Given the description of an element on the screen output the (x, y) to click on. 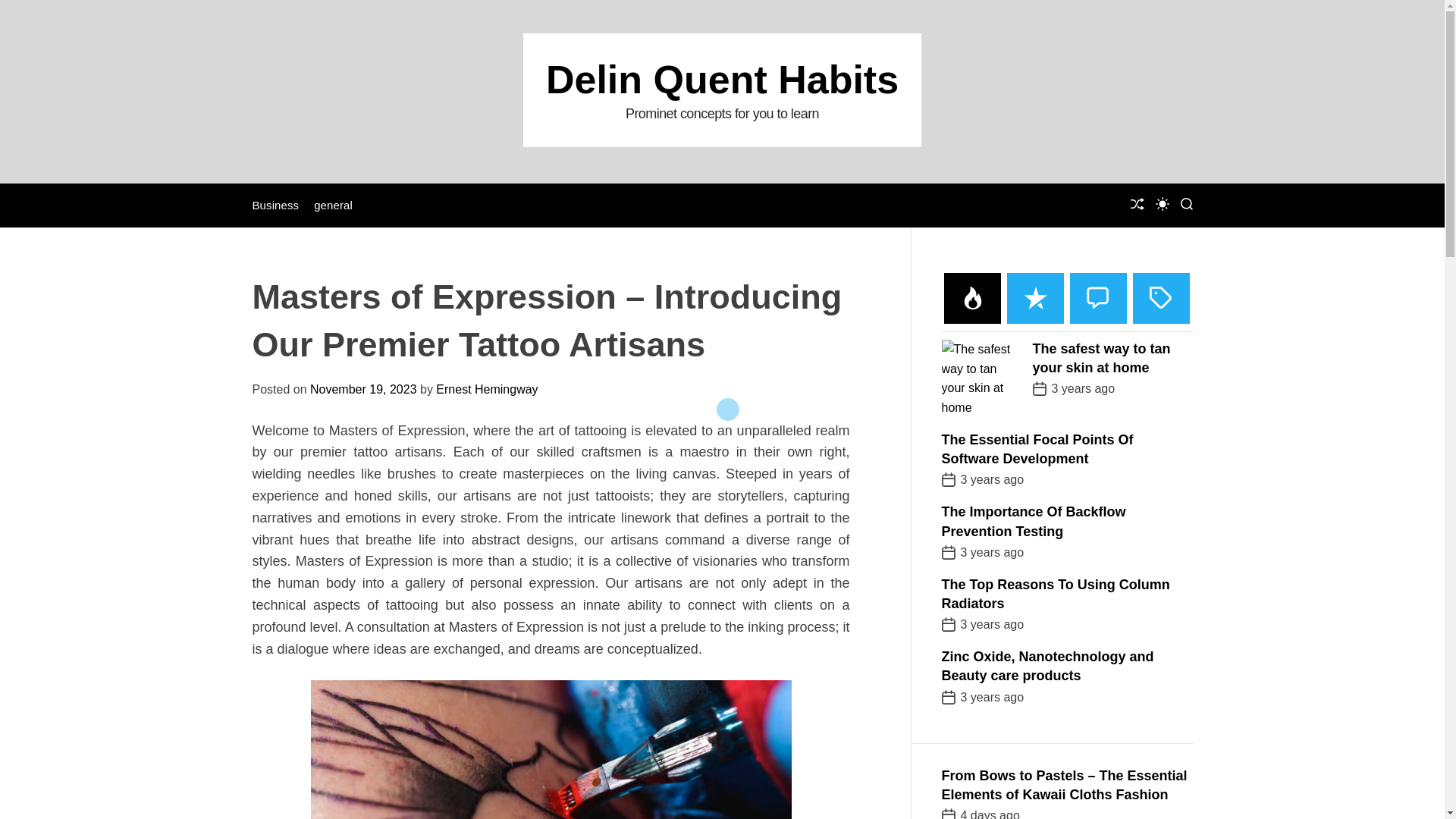
general (333, 205)
The Essential Focal Points Of Software Development (1038, 449)
RECENT (1035, 297)
SWITCH COLOR MODE (1162, 203)
The safest way to tan your skin at home (1101, 358)
COMMENTS (1098, 297)
Business (274, 205)
Zinc Oxide, Nanotechnology and Beauty care products (1048, 666)
TAGGED (1160, 297)
The Importance Of Backflow Prevention Testing (1033, 521)
The Top Reasons To Using Column Radiators (1056, 593)
POPULAR (972, 297)
Ernest Hemingway (486, 389)
November 19, 2023 (363, 389)
Delin Quent Habits (722, 79)
